Given the description of an element on the screen output the (x, y) to click on. 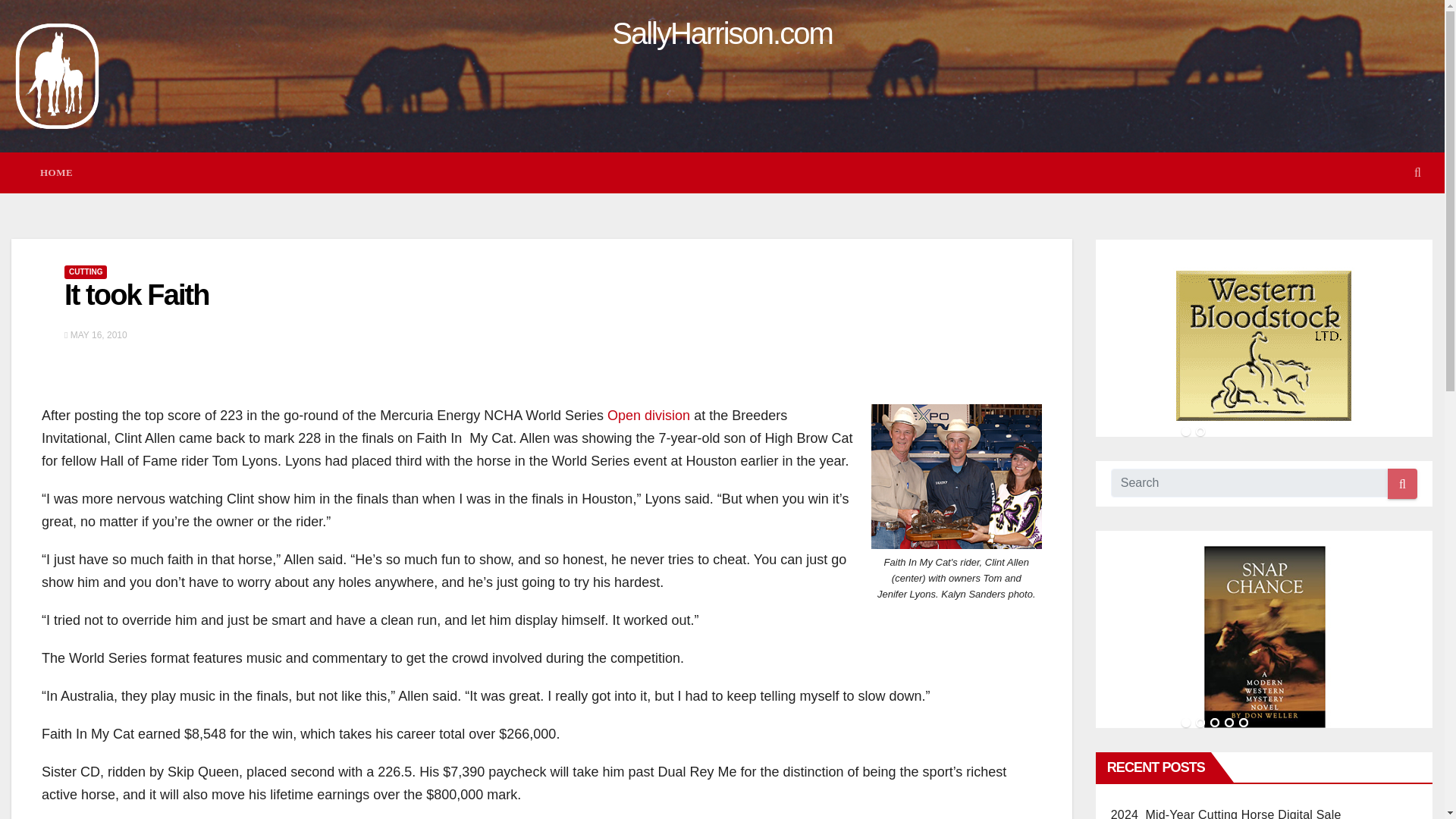
Permalink to: It took Faith (136, 295)
SallyHarrison.com (721, 32)
Open division (648, 415)
Faith In My Cat connections (956, 476)
HOME (55, 172)
CUTTING (85, 272)
wblogo (1264, 345)
It took Faith (136, 295)
Home (55, 172)
World Series Open Finals (648, 415)
